Given the description of an element on the screen output the (x, y) to click on. 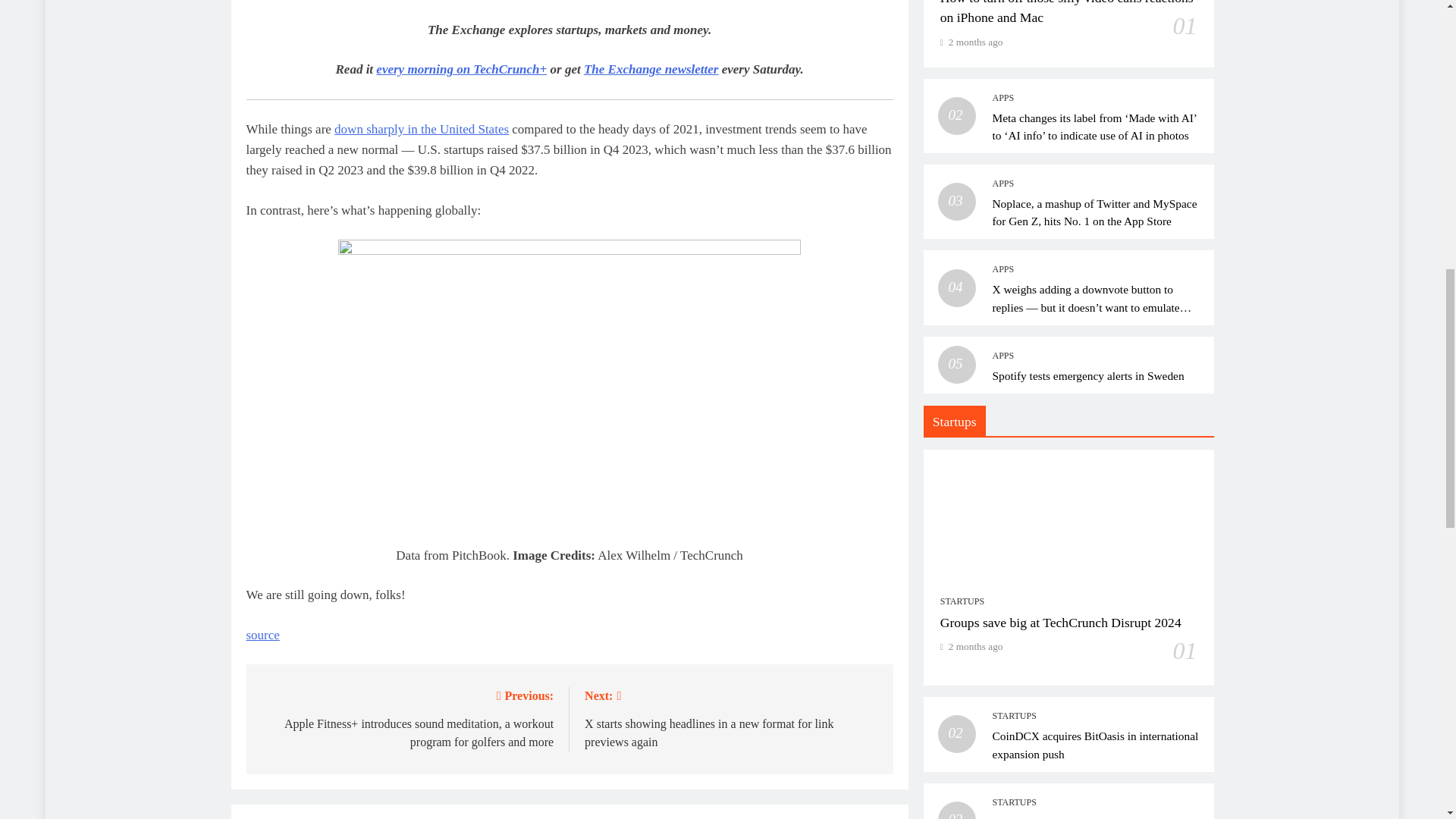
The Exchange newsletter (651, 69)
source (262, 635)
down sharply in the United States (421, 129)
